Given the description of an element on the screen output the (x, y) to click on. 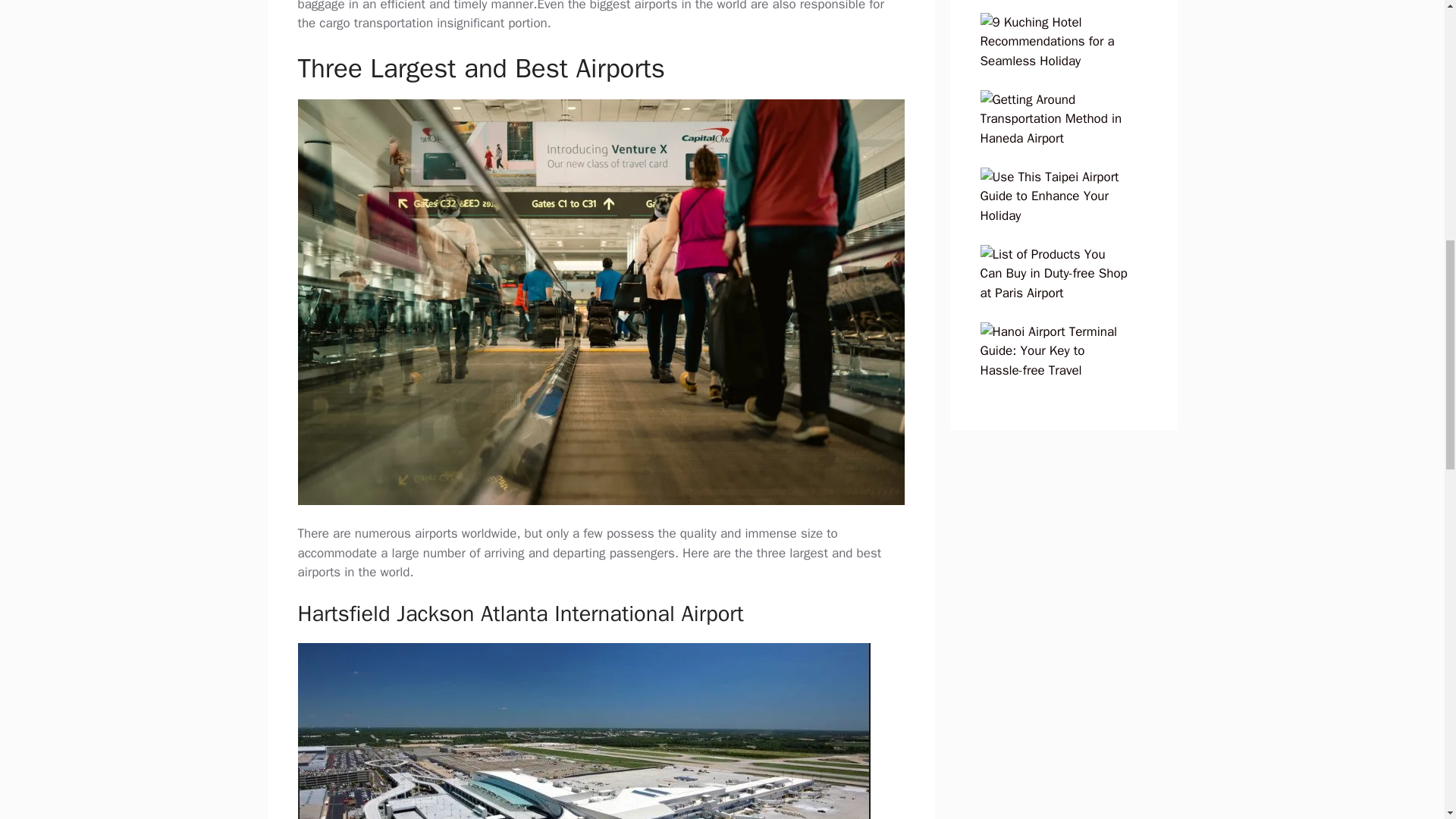
Three Largest and Best Airports in the World 2 (583, 730)
Getting Around Transportation Method in Haneda Airport (1052, 138)
9 Kuching Hotel Recommendations for a Seamless Holiday (1052, 60)
